Given the description of an element on the screen output the (x, y) to click on. 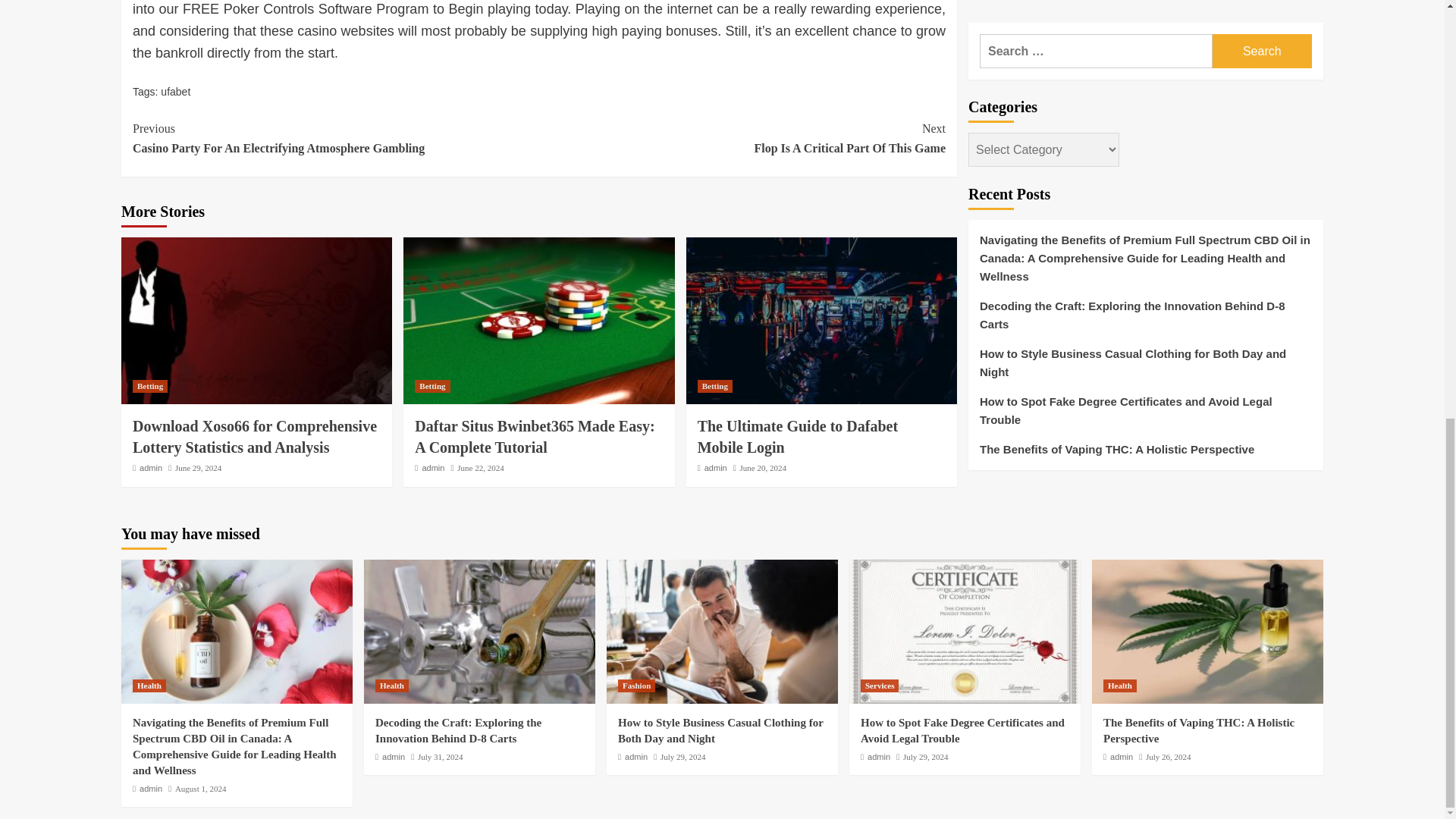
The Ultimate Guide to Dafabet Mobile Login (797, 436)
Health (148, 685)
ufabet (175, 91)
admin (150, 467)
Daftar Situs Bwinbet365 Made Easy: A Complete Tutorial (533, 436)
admin (715, 467)
Betting (431, 386)
admin (433, 467)
June 29, 2024 (197, 467)
June 20, 2024 (762, 467)
June 22, 2024 (480, 467)
Betting (149, 386)
Betting (714, 386)
